Given the description of an element on the screen output the (x, y) to click on. 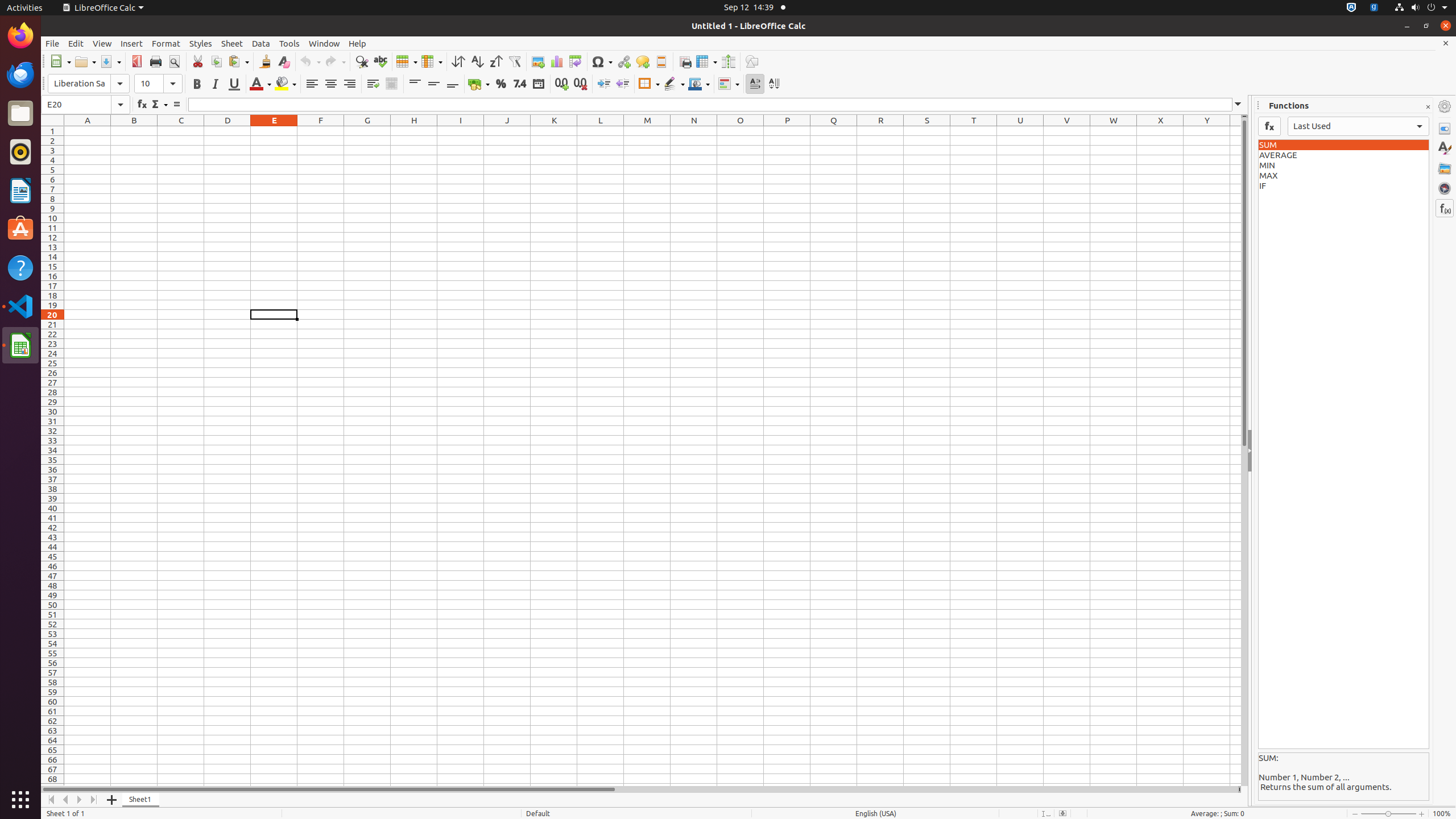
V1 Element type: table-cell (1066, 130)
Undo Element type: push-button (309, 61)
D1 Element type: table-cell (227, 130)
P1 Element type: table-cell (786, 130)
Formula Element type: push-button (176, 104)
